Given the description of an element on the screen output the (x, y) to click on. 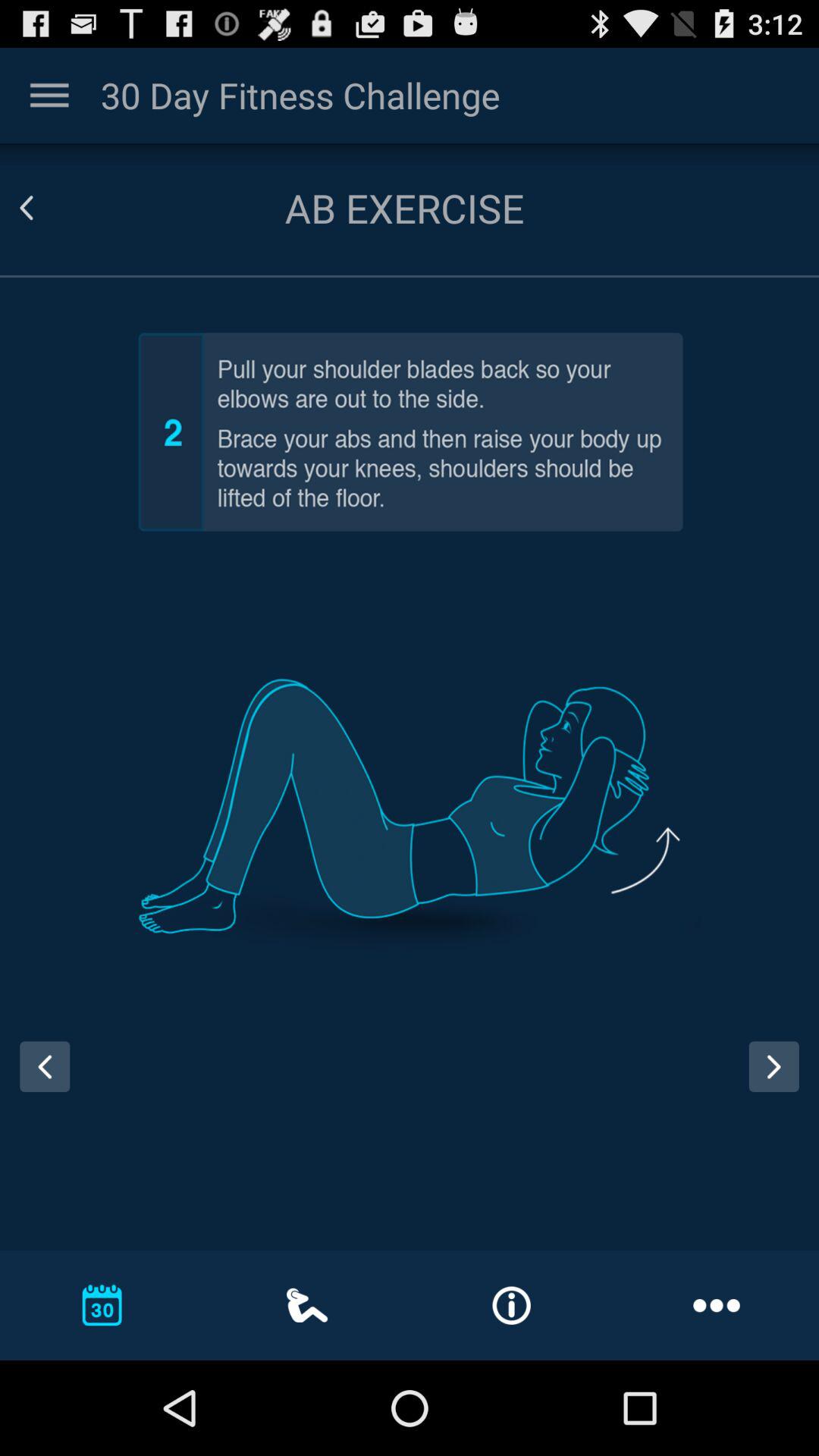
go back (39, 1081)
